Given the description of an element on the screen output the (x, y) to click on. 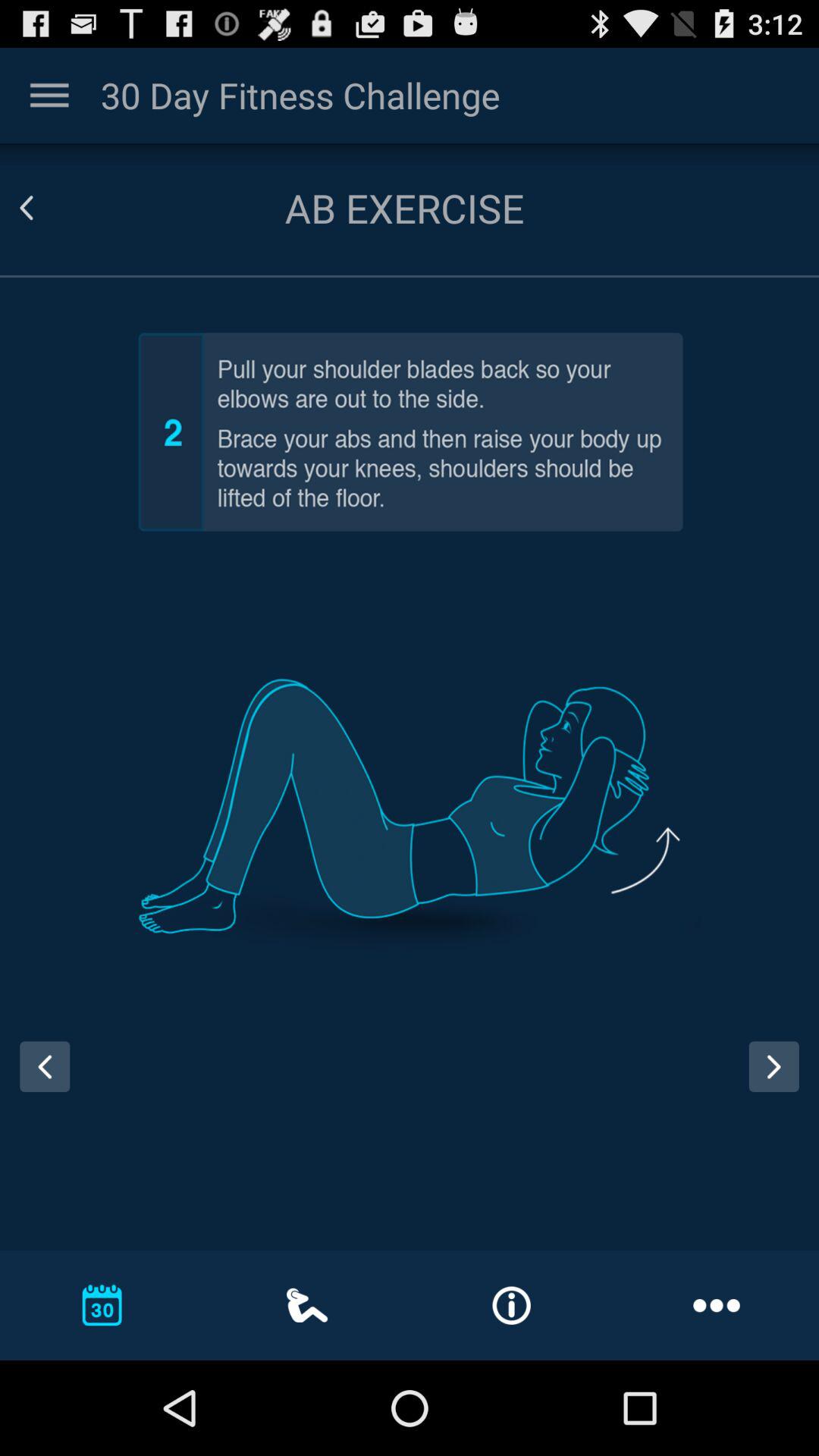
go back (39, 1081)
